Given the description of an element on the screen output the (x, y) to click on. 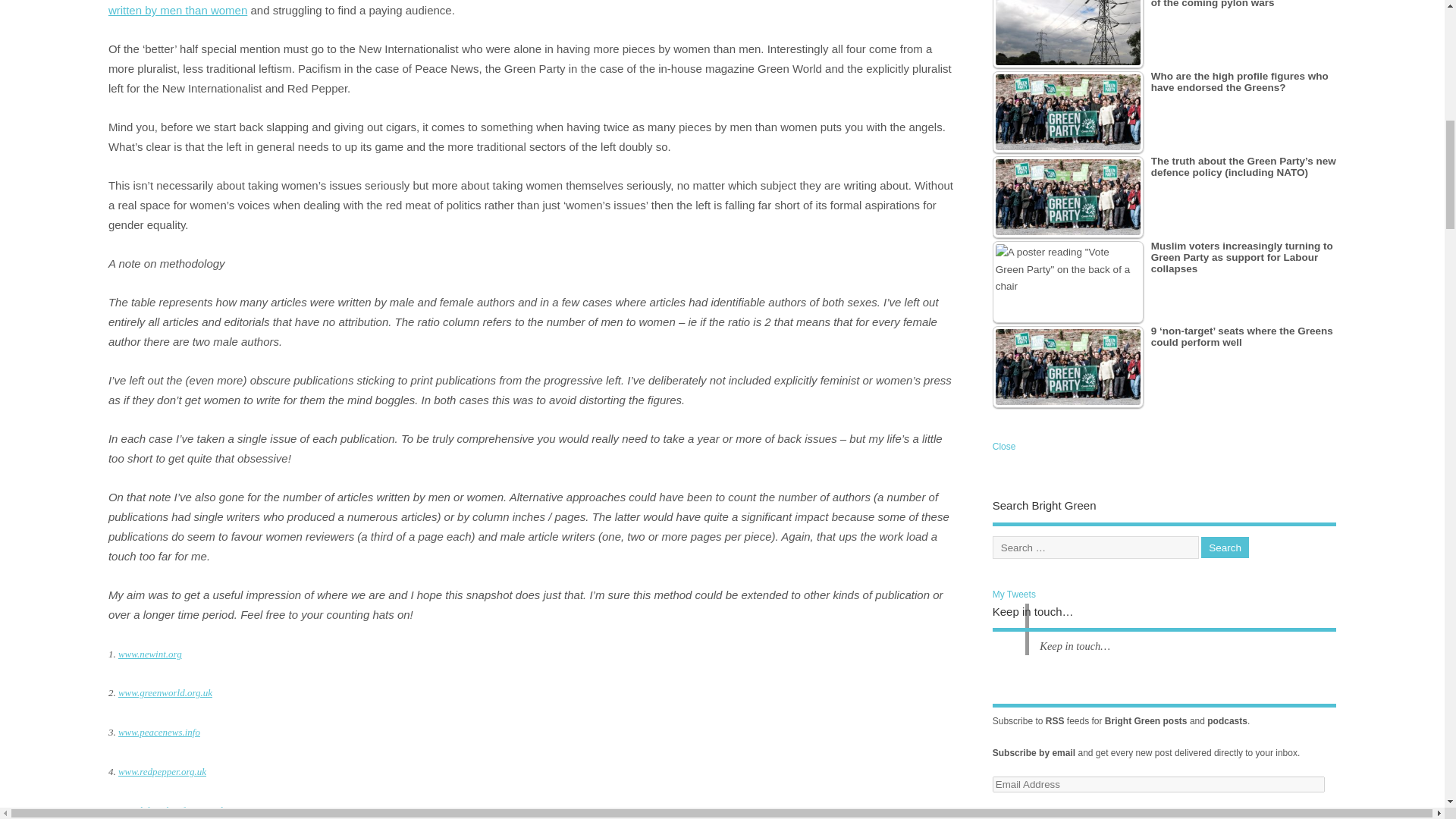
Search (1225, 547)
www.peacenews.info (158, 731)
Search (1225, 547)
www.redpepper.org.uk (161, 771)
www.greenworld.org.uk (164, 692)
www.newint.org (149, 654)
www.labourbriefing.org.uk (170, 809)
